Given the description of an element on the screen output the (x, y) to click on. 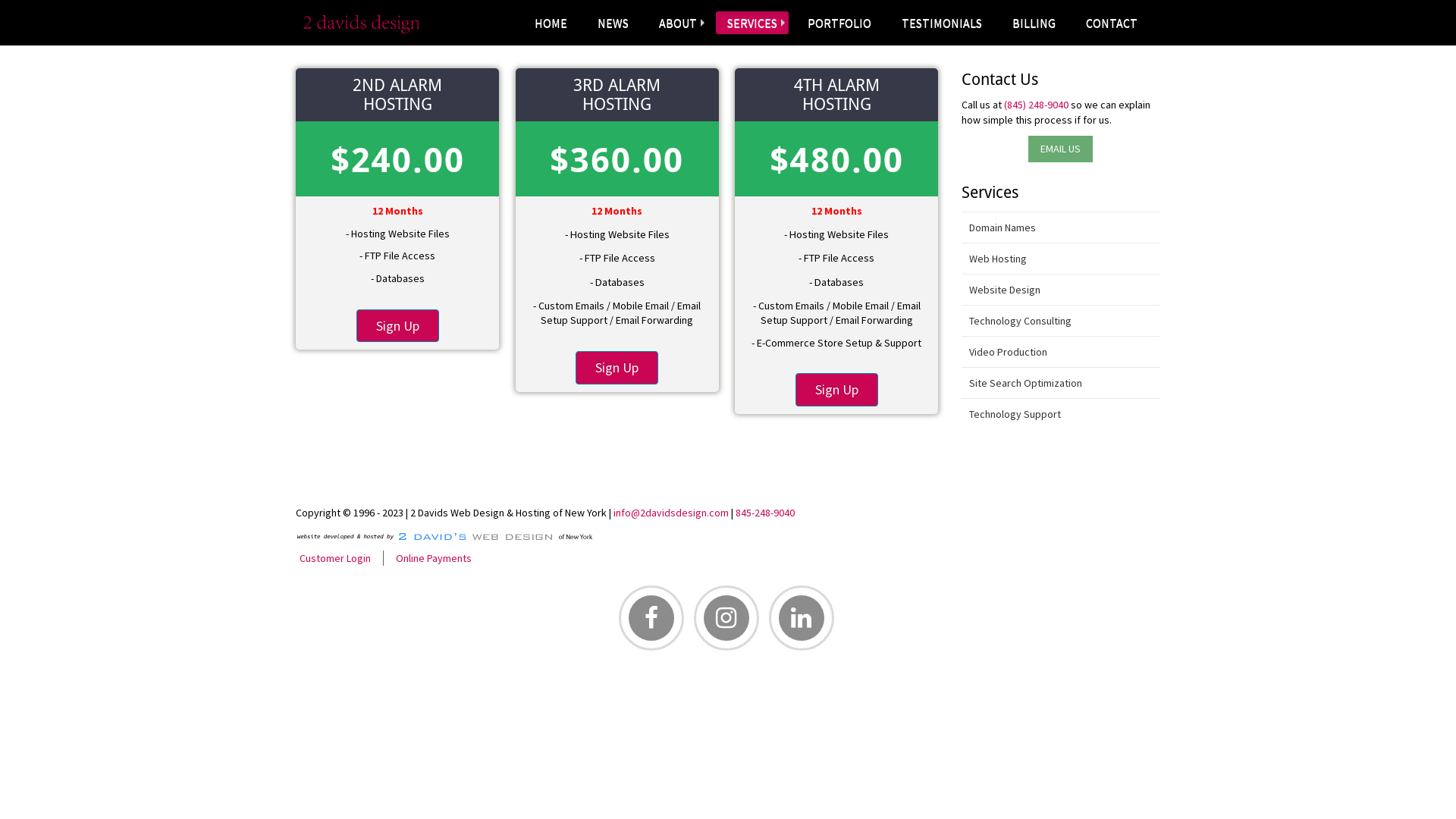
Online Payments Element type: text (433, 557)
Web Hosting Element type: text (1061, 258)
EMAIL US Element type: text (1060, 149)
Site Search Optimization Element type: text (1061, 382)
Website Design Element type: text (1061, 289)
ABOUT Element type: text (677, 22)
BILLING Element type: text (1033, 22)
Sign Up Element type: text (836, 389)
Domain Names Element type: text (1061, 227)
Video Production Element type: text (1061, 351)
CONTACT Element type: text (1111, 22)
Sign Up Element type: text (616, 367)
(845) 248-9040 Element type: text (1036, 104)
2 Davids Web Design And Hosting - Orange County New York Element type: hover (357, 22)
info@2davidsdesign.com Element type: text (670, 512)
HOME Element type: text (550, 22)
845-248-9040 Element type: text (764, 512)
TESTIMONIALS Element type: text (941, 22)
NEWS Element type: text (613, 22)
Customer Login Element type: text (334, 557)
Sign Up Element type: text (397, 325)
SERVICES Element type: text (751, 22)
Technology Consulting Element type: text (1061, 320)
Technology Support Element type: text (1061, 413)
PORTFOLIO Element type: text (839, 22)
